Given the description of an element on the screen output the (x, y) to click on. 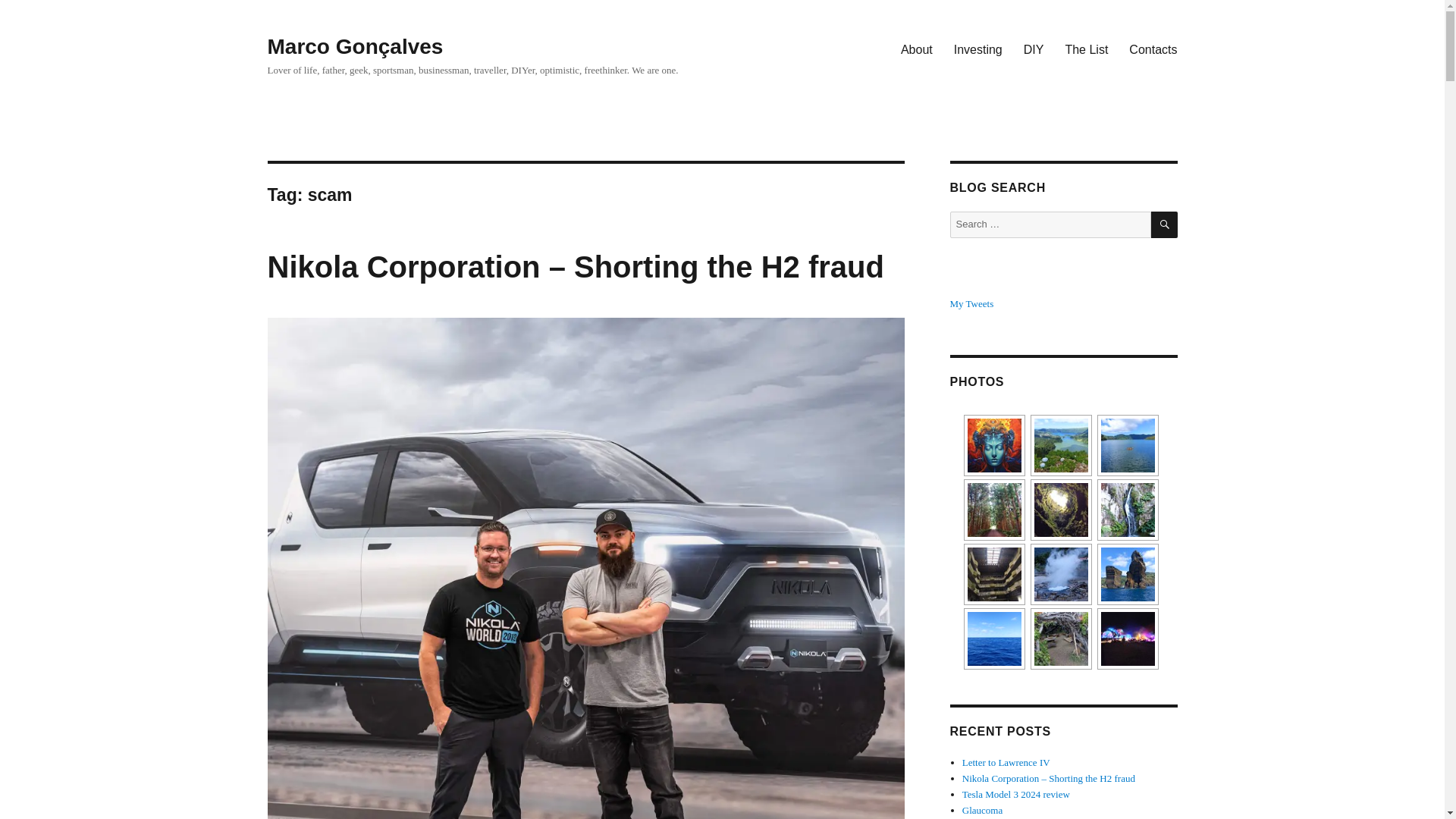
Contacts (1153, 49)
DIY (1033, 49)
Investing (978, 49)
About (916, 49)
The List (1086, 49)
